Given the description of an element on the screen output the (x, y) to click on. 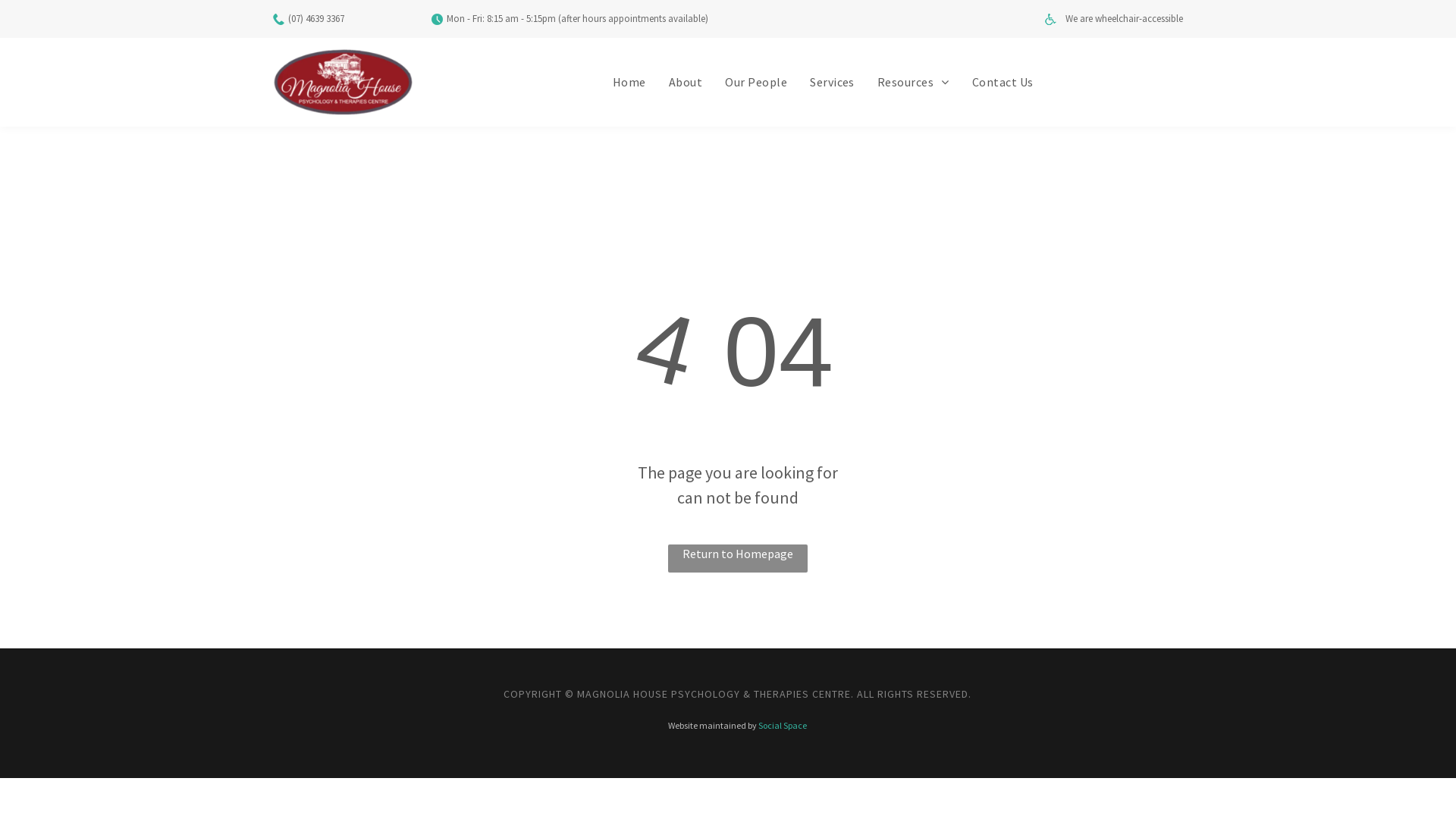
Social Space Element type: text (782, 725)
Return to Homepage Element type: text (737, 558)
Our People Element type: text (755, 81)
Home Element type: text (629, 81)
(07) 4639 3367 Element type: text (316, 18)
About Element type: text (685, 81)
Resources Element type: text (913, 81)
We are wheelchair-accessible Element type: text (1124, 18)
Services Element type: text (832, 81)
Contact Us Element type: text (1002, 81)
